Given the description of an element on the screen output the (x, y) to click on. 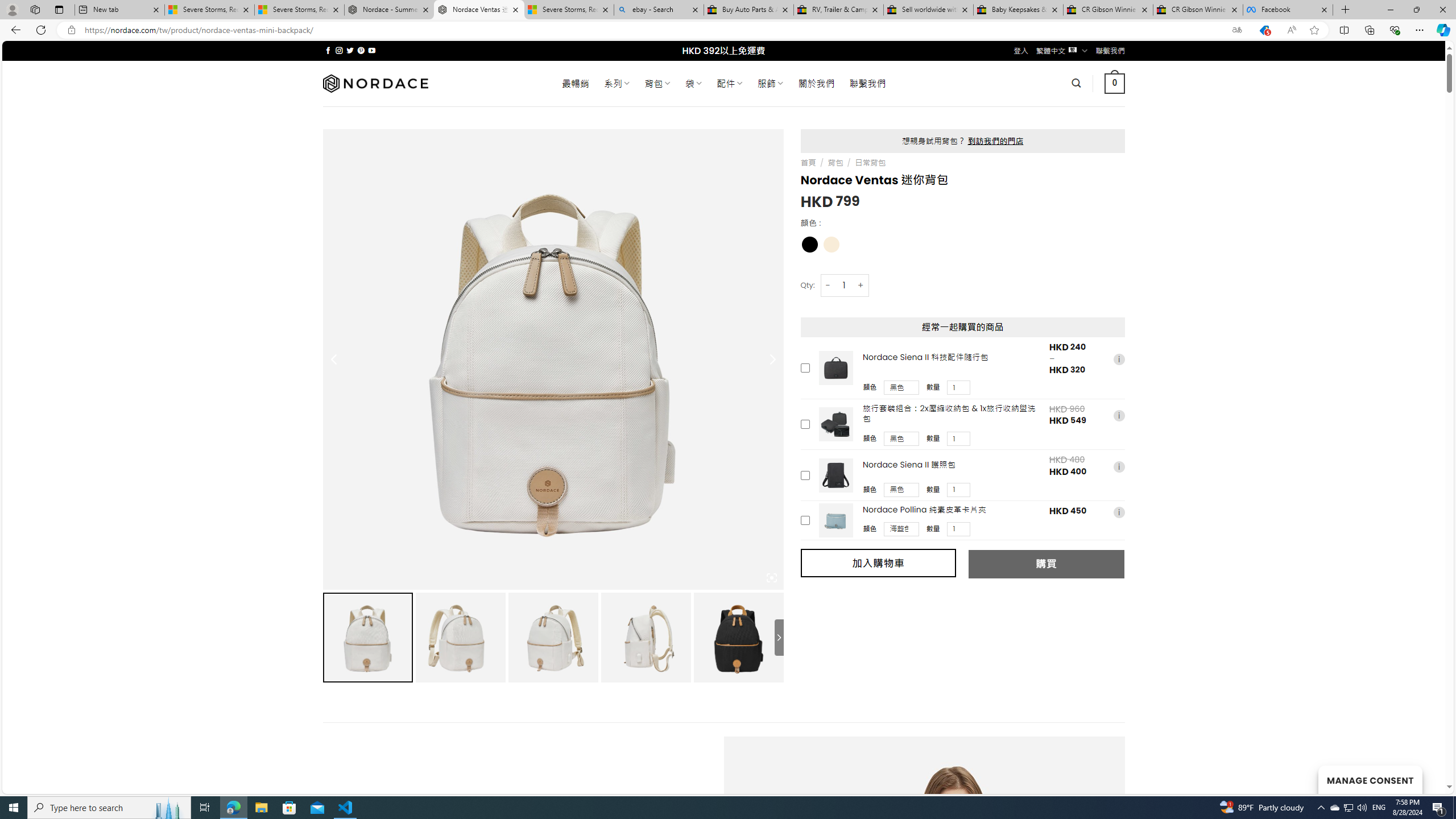
i (1118, 512)
